Given the description of an element on the screen output the (x, y) to click on. 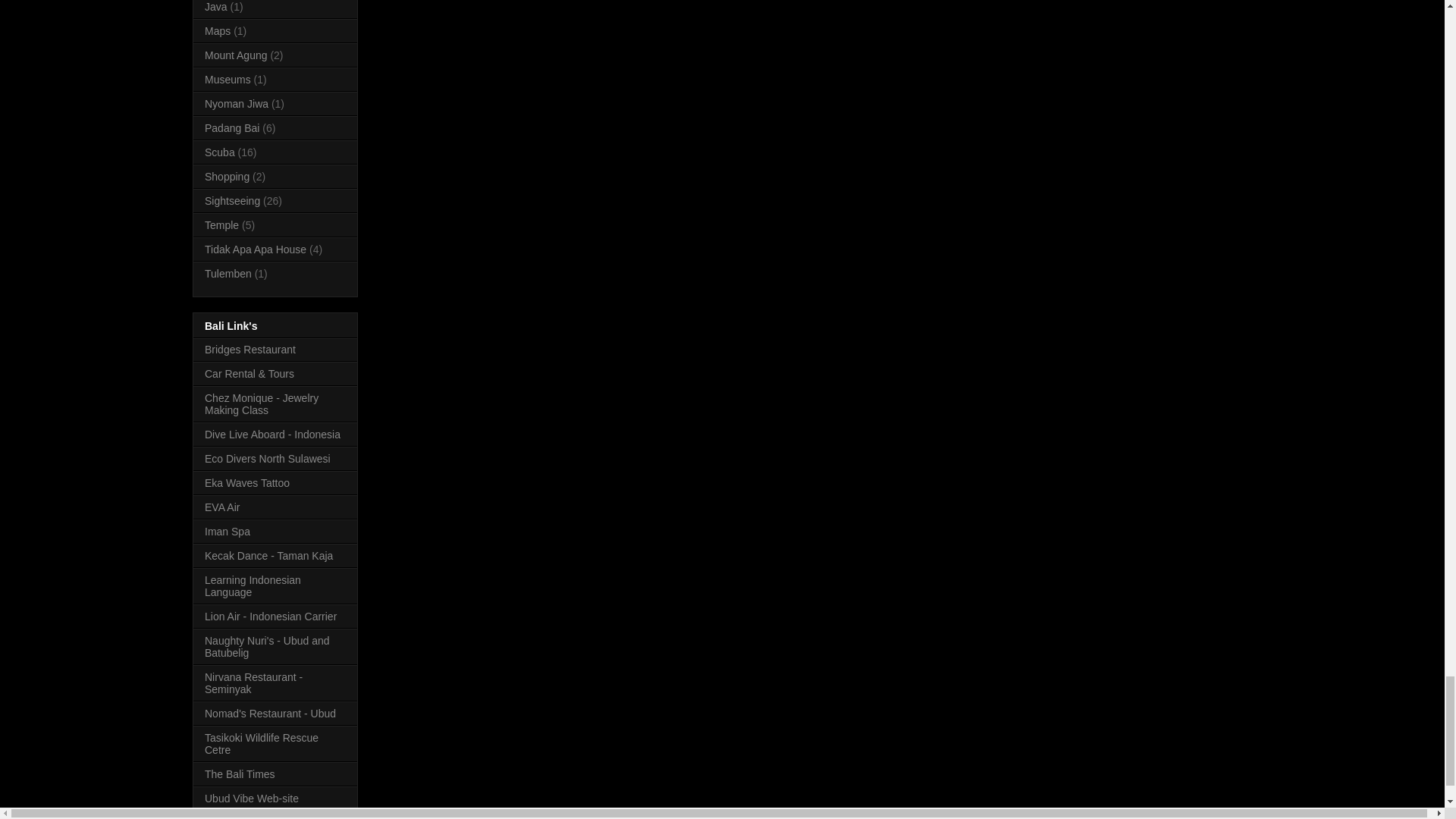
Java (216, 6)
